Given the description of an element on the screen output the (x, y) to click on. 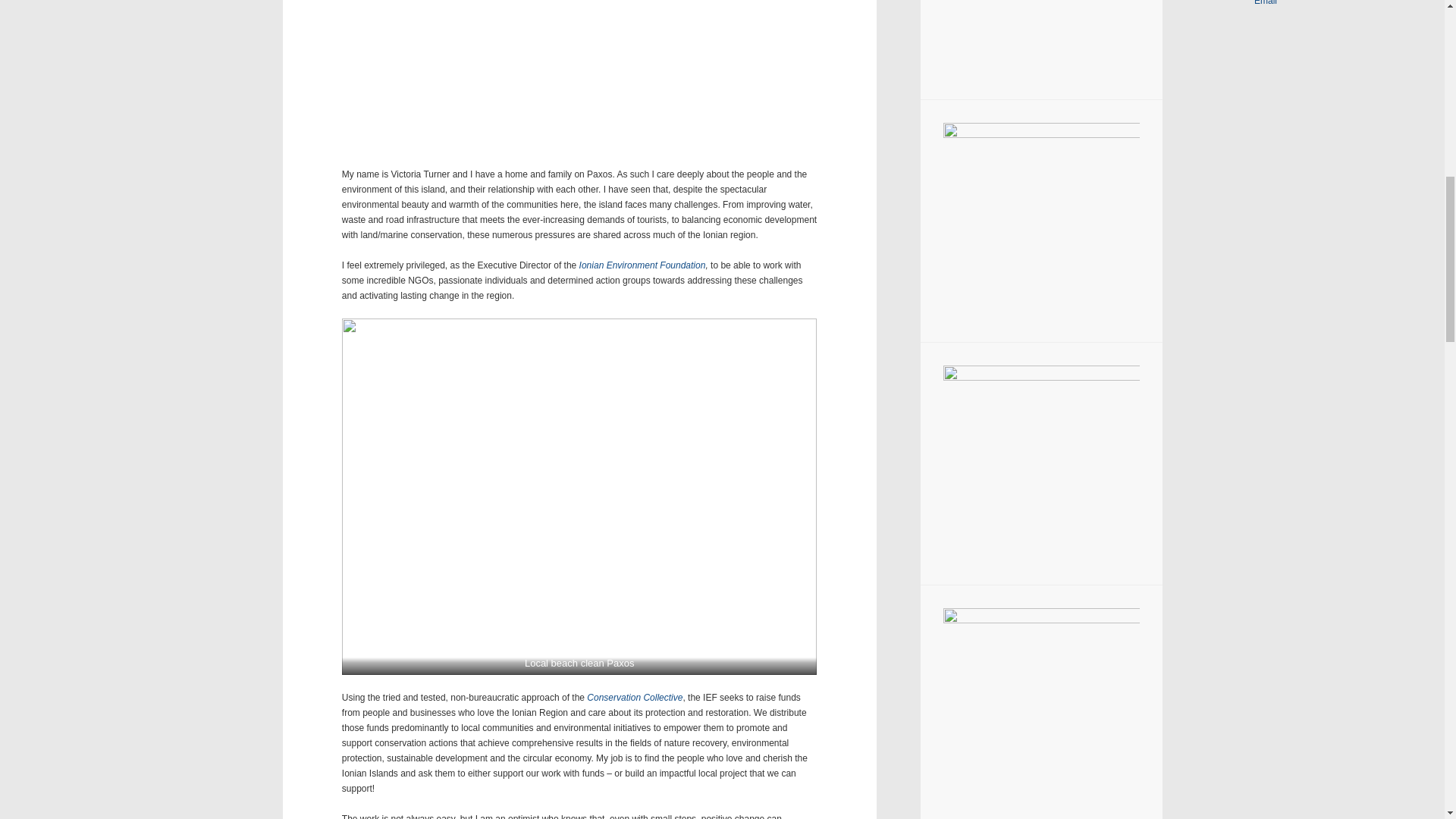
Conservation Collective (634, 697)
Ionian Environment Foundation (642, 265)
Follow by Email (1268, 2)
